Given the description of an element on the screen output the (x, y) to click on. 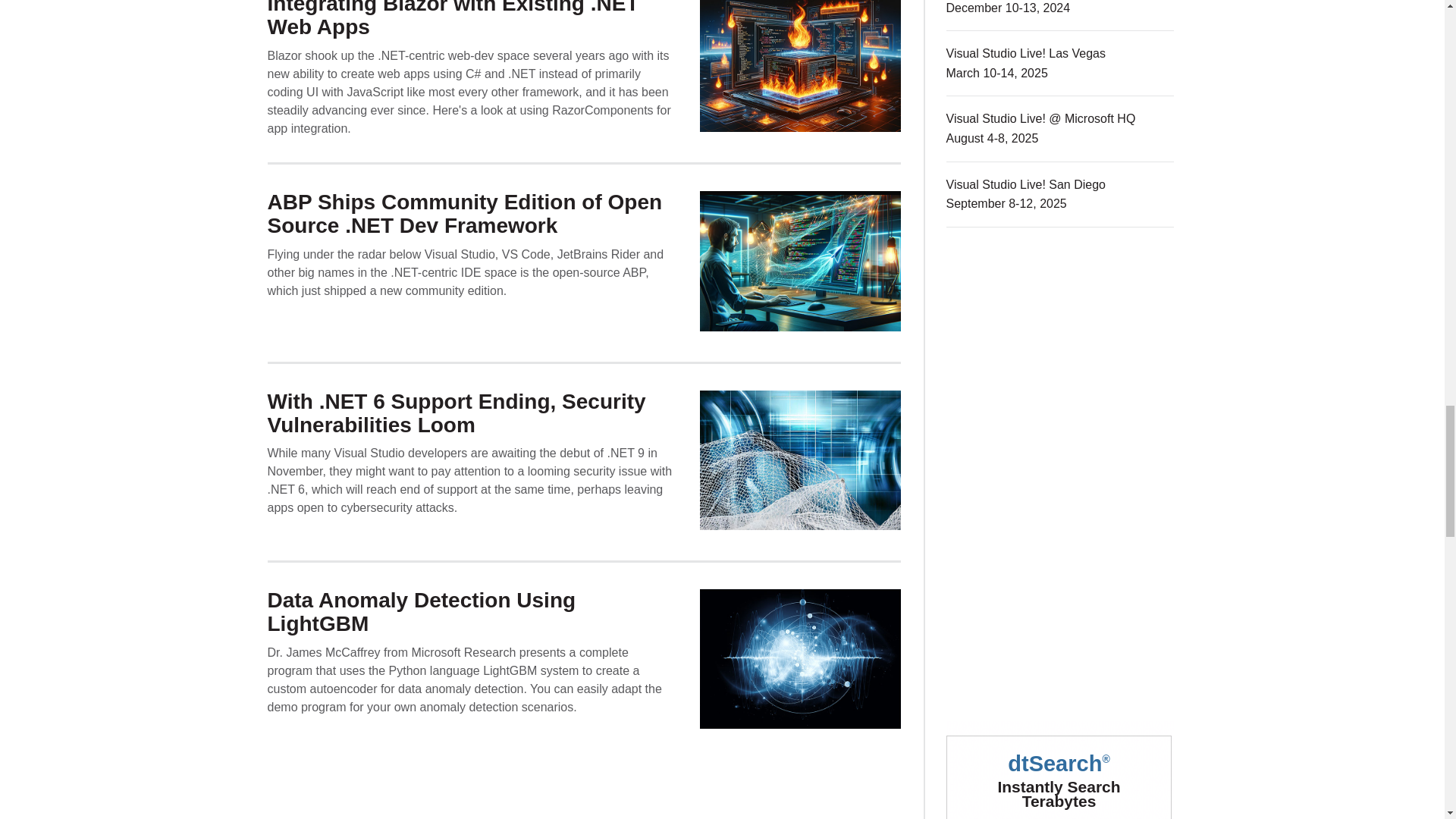
3rd party ad content (1059, 769)
3rd party ad content (1059, 587)
3rd party ad content (1059, 360)
